Given the description of an element on the screen output the (x, y) to click on. 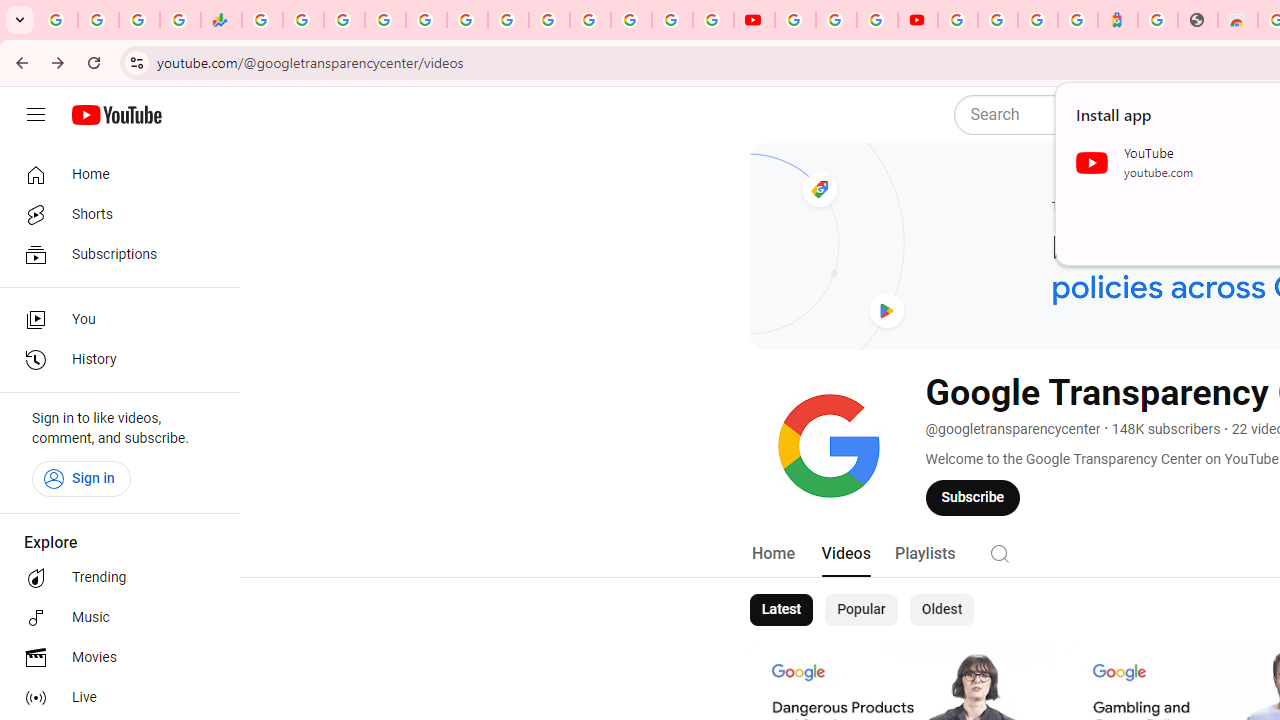
Latest (780, 609)
Music (113, 617)
Movies (113, 657)
Subscribe (973, 497)
Videos (845, 553)
Live (113, 697)
YouTube (753, 20)
Trending (113, 578)
Content Creator Programs & Opportunities - YouTube Creators (918, 20)
